Given the description of an element on the screen output the (x, y) to click on. 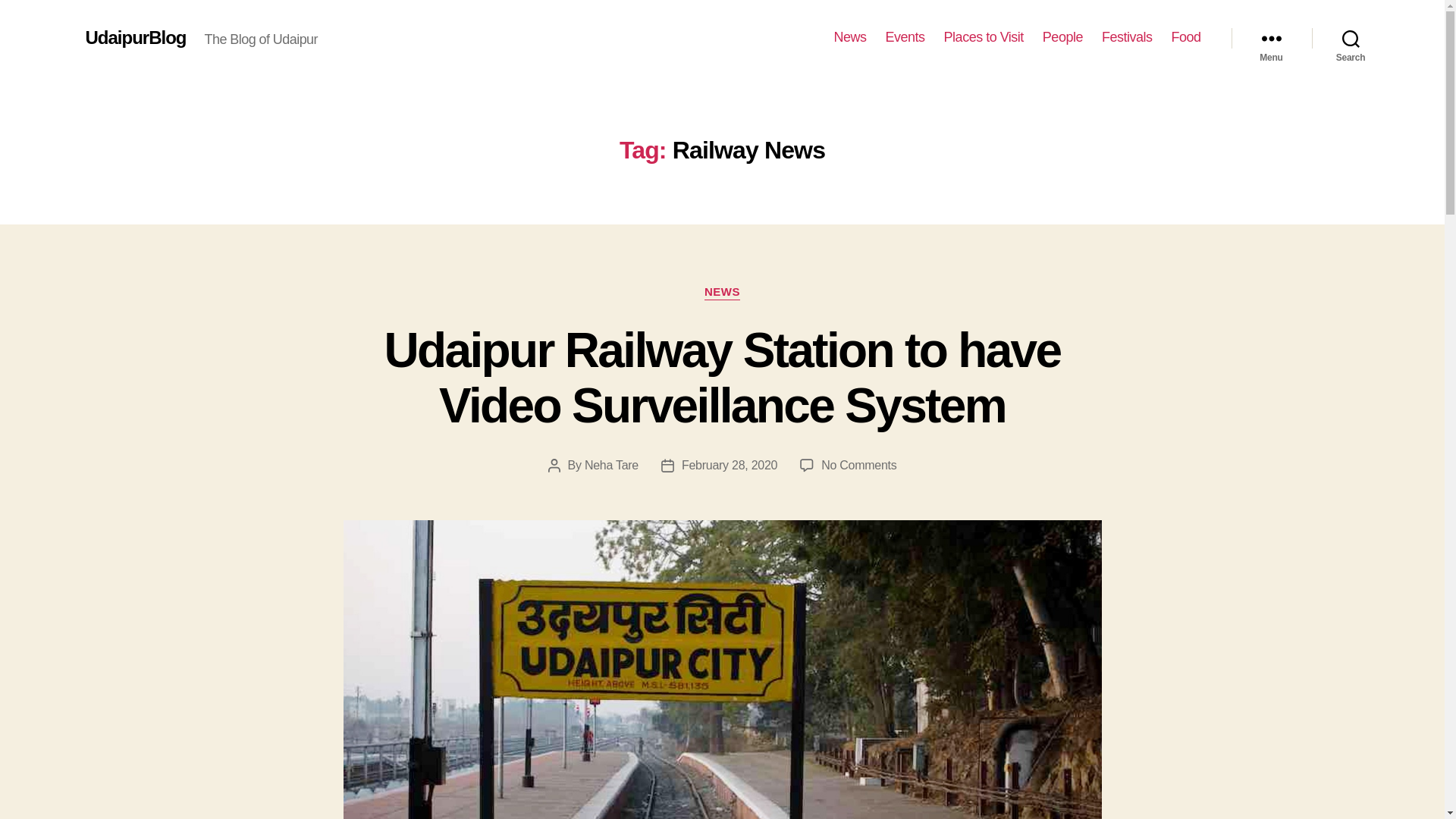
People (1062, 37)
Menu (1271, 37)
UdaipurBlog (135, 37)
Neha Tare (612, 464)
NEWS (721, 292)
Search (1350, 37)
February 28, 2020 (729, 464)
Food (1184, 37)
Festivals (1127, 37)
